Given the description of an element on the screen output the (x, y) to click on. 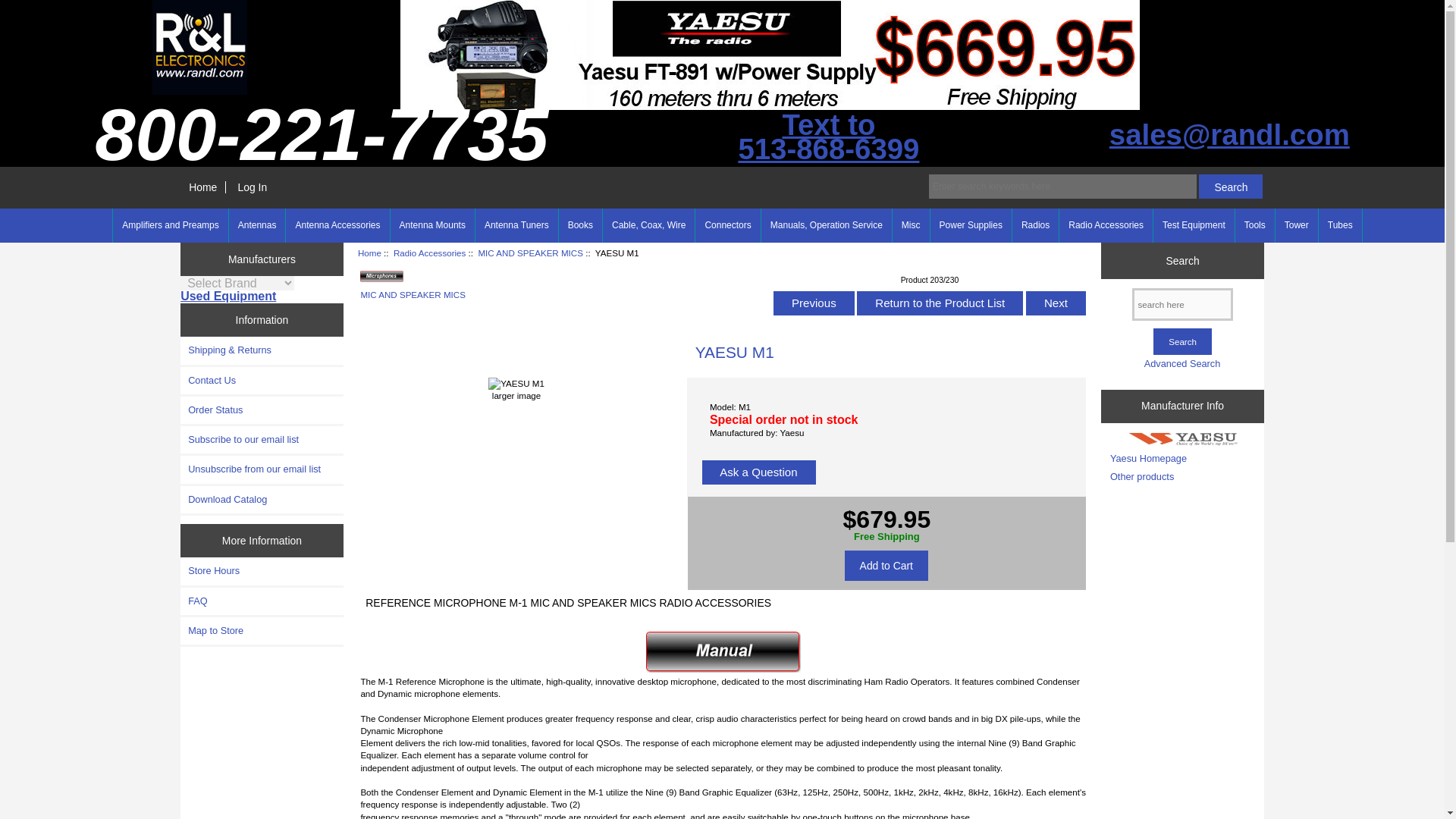
Tower (1296, 225)
Antenna Accessories (336, 225)
Tubes (1340, 225)
Test Equipment (1193, 225)
Add to Cart (886, 565)
Search (1230, 186)
MIC AND SPEAKER MICS (530, 252)
Used Equipment (228, 295)
Order Status (261, 410)
Unsubscribe from our email list (261, 469)
Home (202, 186)
 Previous  (813, 303)
Log In (251, 186)
 Return to the Product List  (940, 303)
YAESU M1 (515, 383)
